Given the description of an element on the screen output the (x, y) to click on. 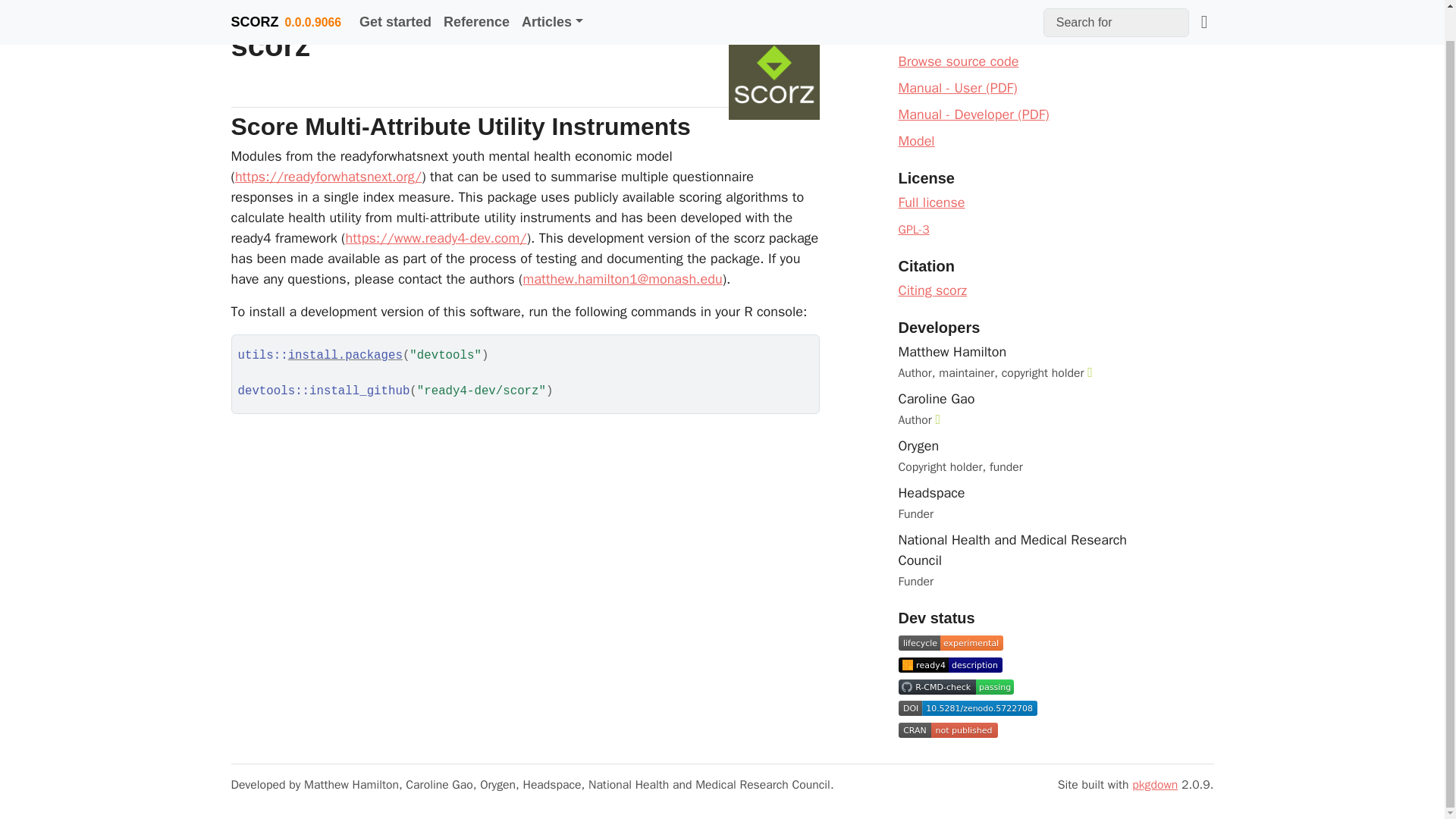
Citing scorz (932, 289)
pkgdown (1154, 784)
Get started (395, 3)
Full license (930, 202)
Reference (476, 3)
Articles (552, 3)
install.packages (345, 355)
GPL-3 (913, 229)
Model (916, 140)
SCORZ (254, 2)
Browse source code (957, 61)
